Given the description of an element on the screen output the (x, y) to click on. 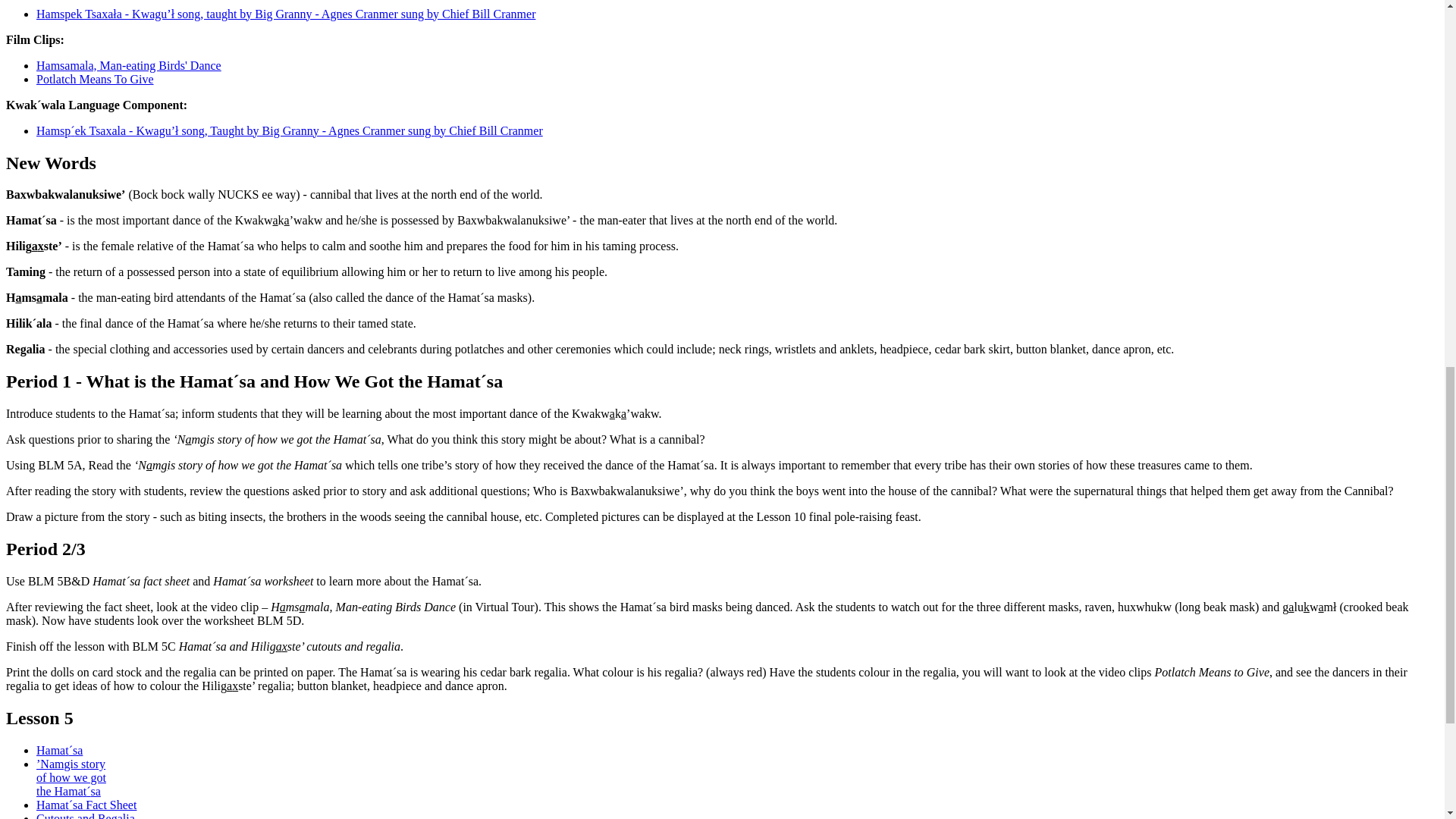
Hamsamala, Man-eating Birds' Dance (128, 65)
Potlatch Means To Give (95, 78)
Cutouts and Regalia (85, 815)
